Given the description of an element on the screen output the (x, y) to click on. 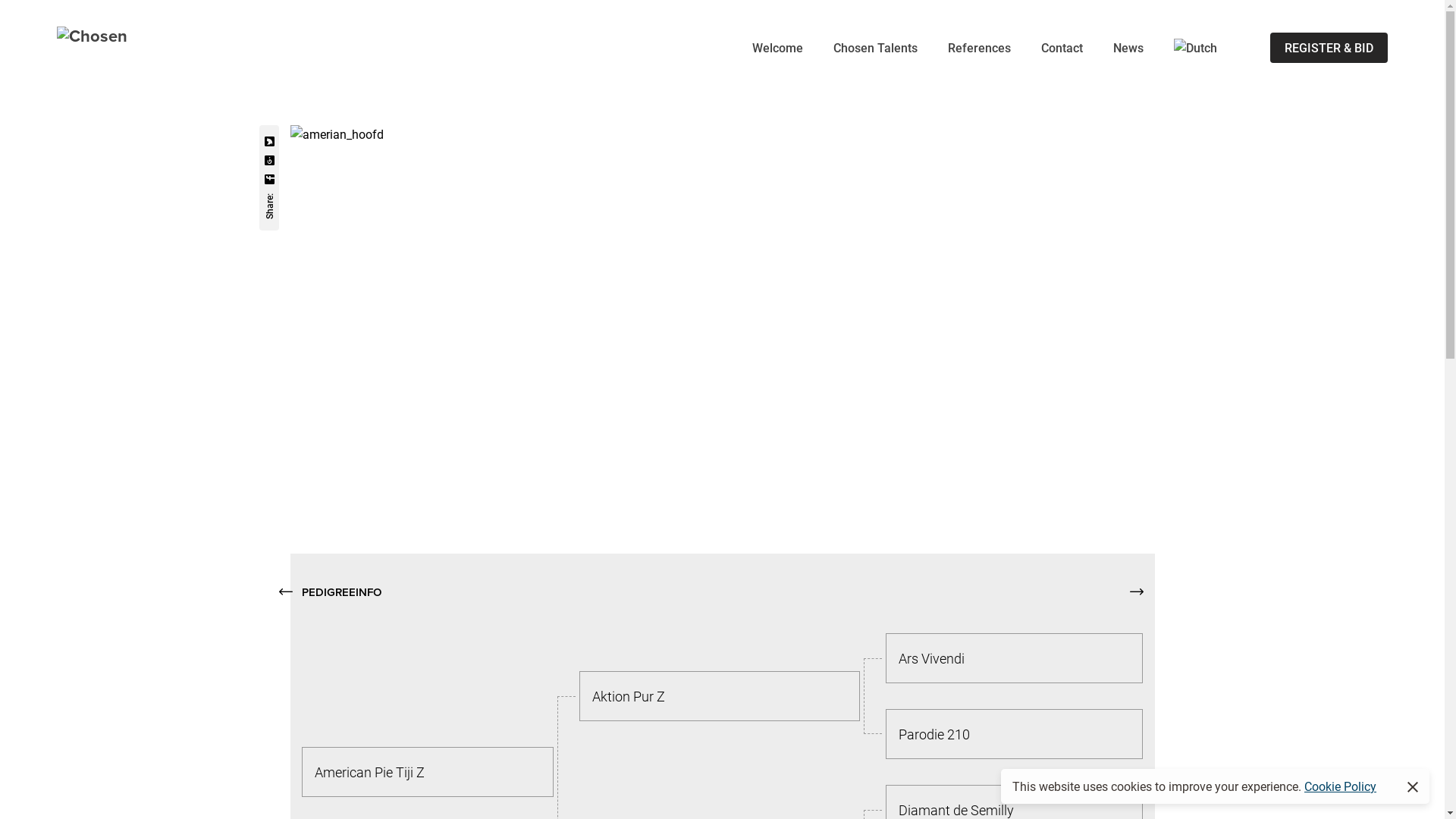
Contact Element type: text (1061, 46)
Cookie Policy Element type: text (1340, 785)
References Element type: text (978, 46)
amerian_hoofd Element type: hover (335, 134)
News Element type: text (1128, 46)
Welcome Element type: text (777, 46)
REGISTER & BID Element type: text (1328, 46)
Chosen Talents Element type: text (875, 46)
